Given the description of an element on the screen output the (x, y) to click on. 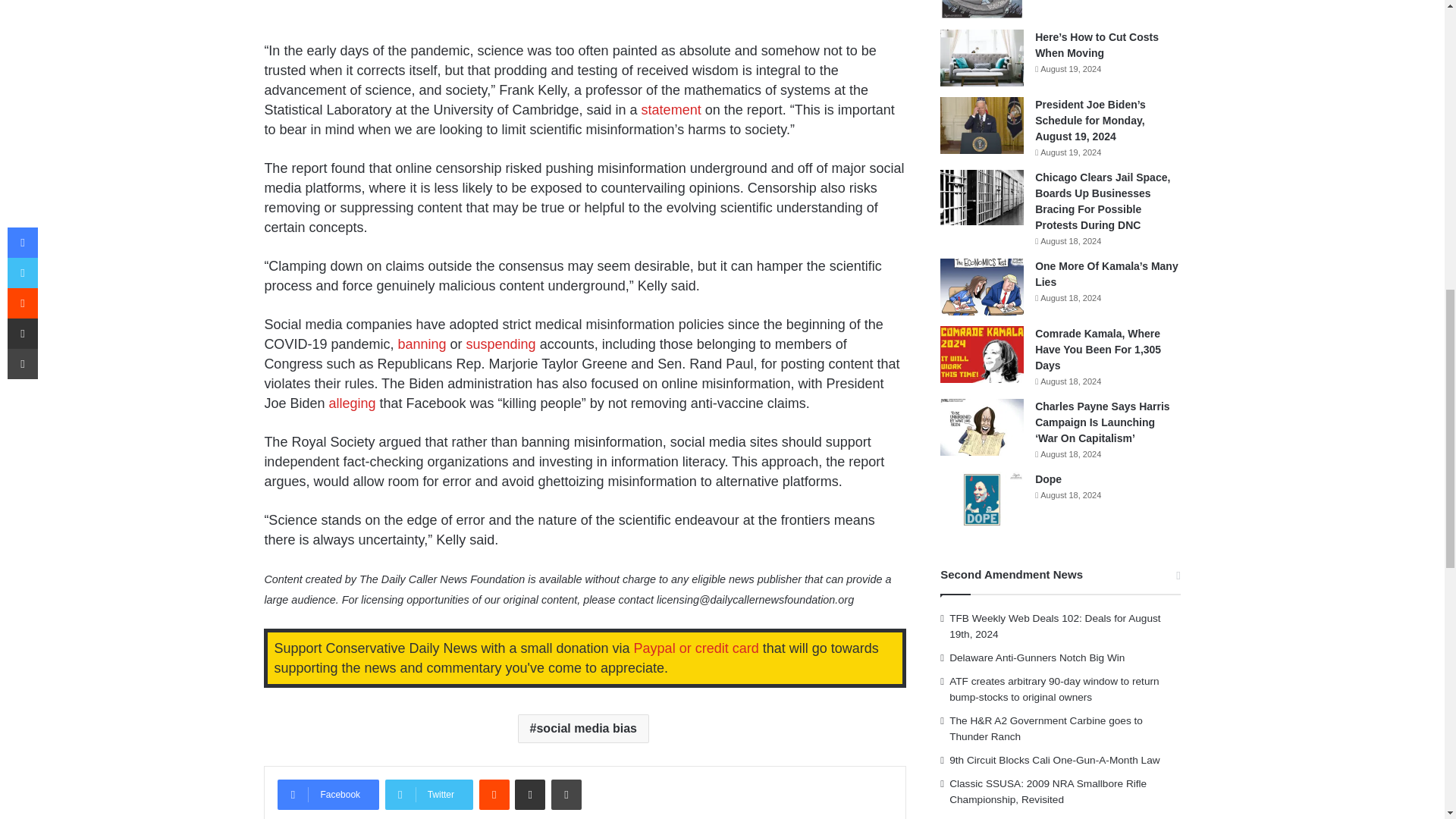
Reddit (494, 794)
Twitter (429, 794)
Facebook (328, 794)
Advertisement (584, 18)
